Given the description of an element on the screen output the (x, y) to click on. 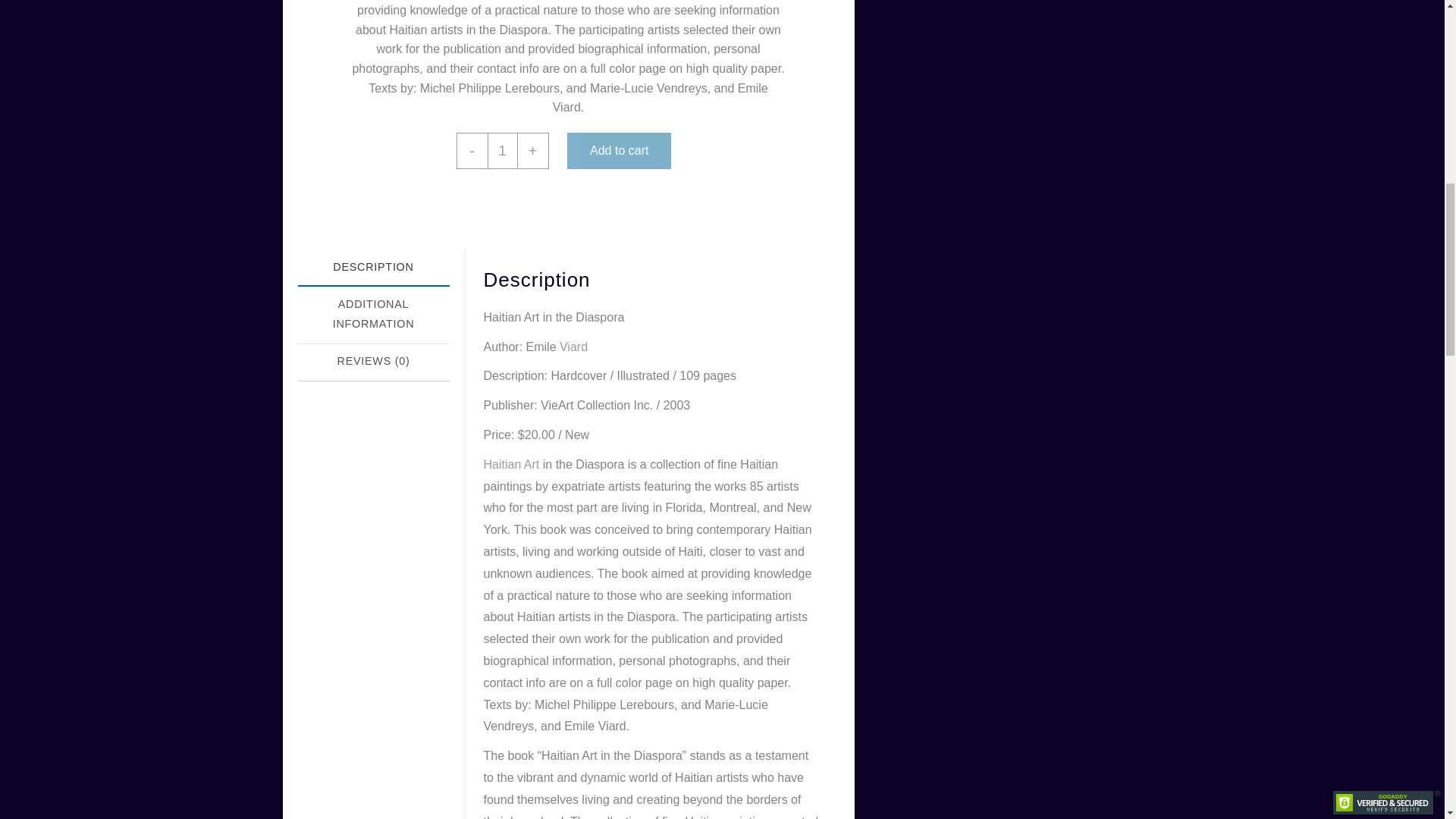
ADDITIONAL INFORMATION (372, 315)
Add to cart (619, 150)
Haitian Art (511, 463)
Viard (573, 346)
PayPal (568, 205)
DESCRIPTION (372, 268)
